Given the description of an element on the screen output the (x, y) to click on. 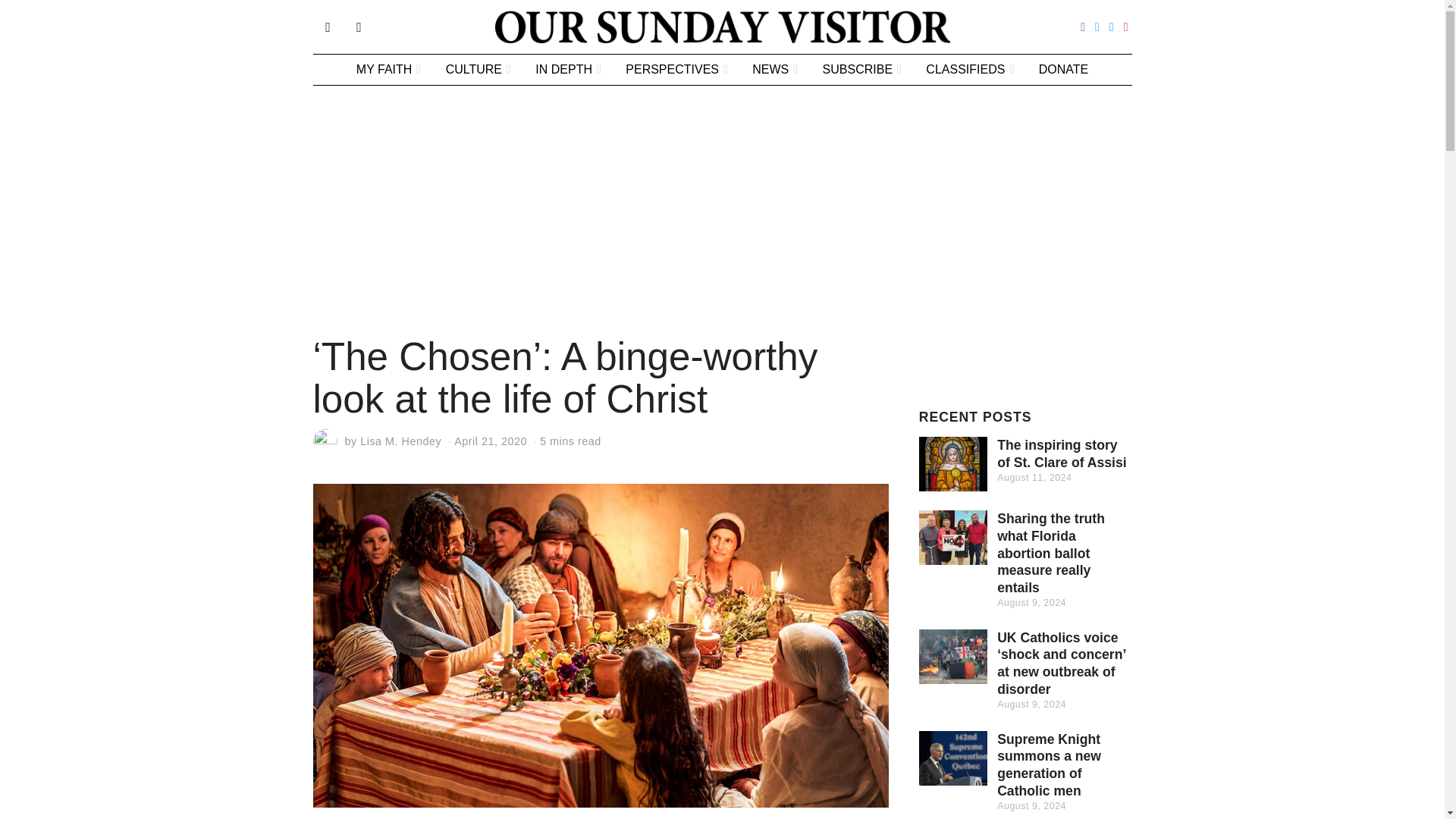
CULTURE (478, 69)
CLASSIFIEDS (970, 69)
Lisa M. Hendey (400, 440)
NEWS (774, 69)
DONATE (1063, 69)
PERSPECTIVES (676, 69)
IN DEPTH (567, 69)
SUBSCRIBE (862, 69)
MY FAITH (388, 69)
